Given the description of an element on the screen output the (x, y) to click on. 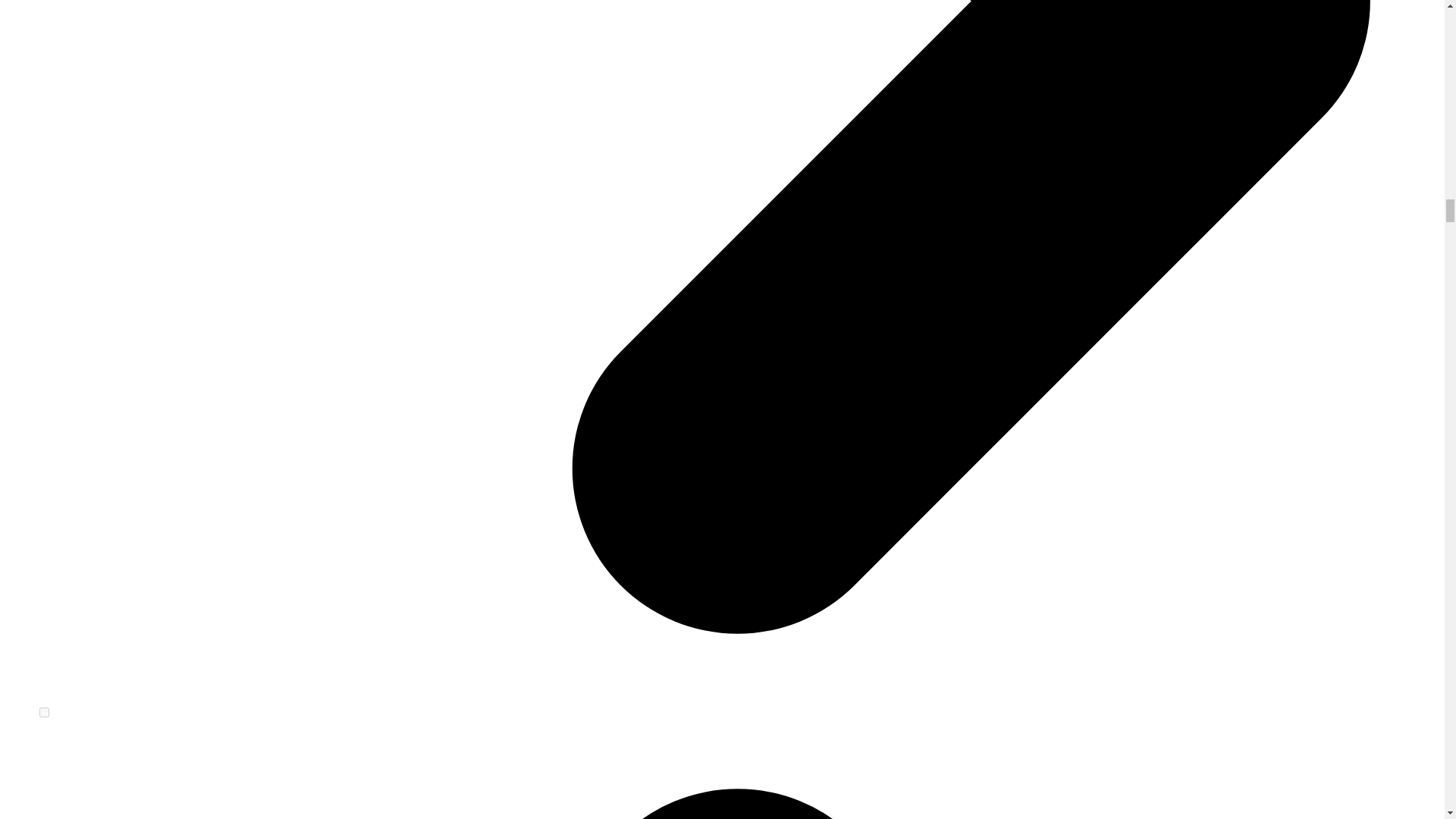
on (44, 712)
